Given the description of an element on the screen output the (x, y) to click on. 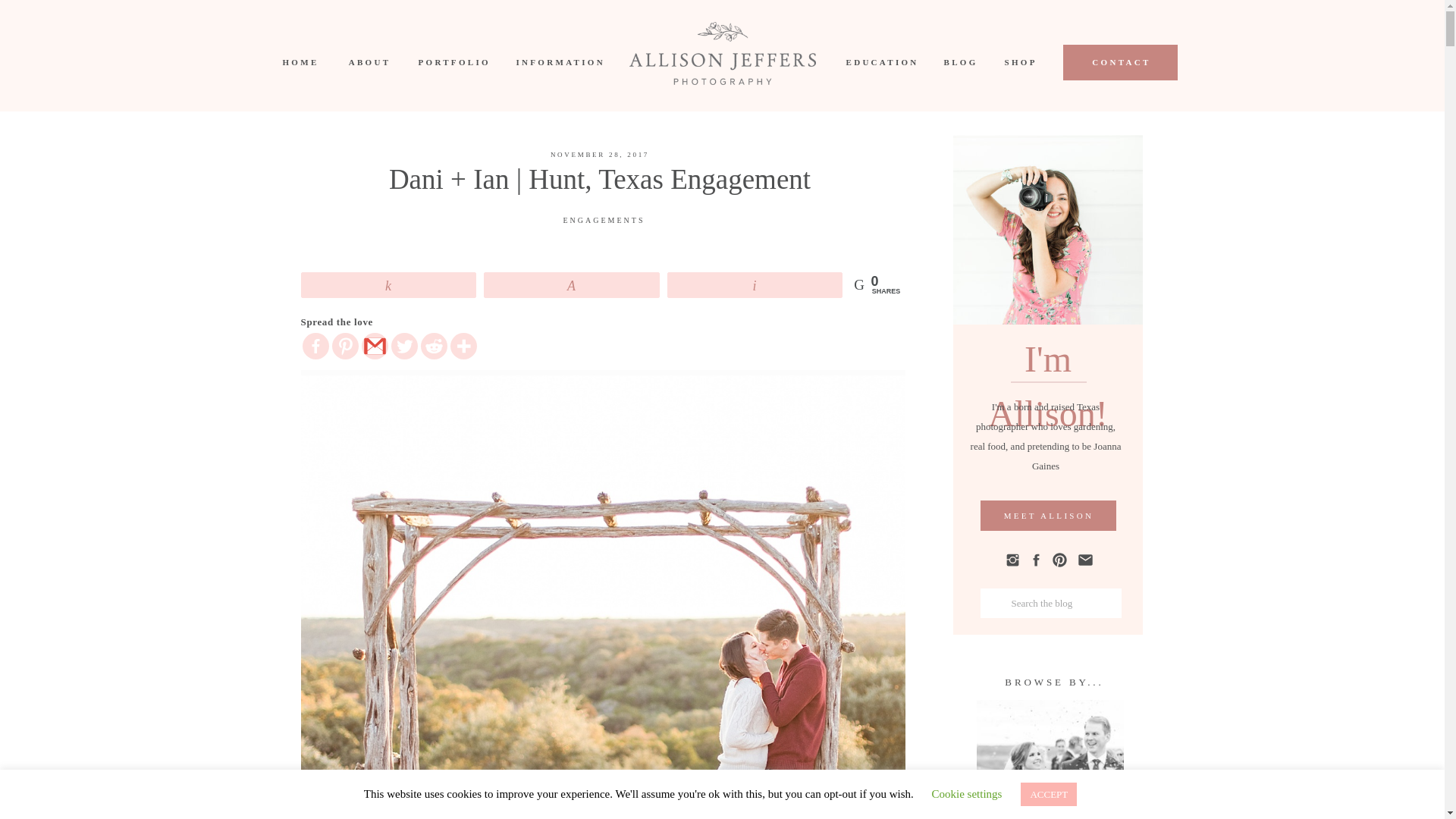
More (463, 345)
INFORMATION (556, 61)
MEET ALLISON (1048, 515)
Reddit (433, 345)
PORTFOLIO (453, 61)
Pinterest (344, 345)
WEDDINGS (1049, 788)
ABOUT (369, 61)
Facebook (315, 345)
HOME (298, 61)
CONTACT (1120, 61)
BLOG (958, 61)
ENGAGEMENTS (603, 220)
SHOP (1018, 61)
EDUCATION (880, 61)
